Given the description of an element on the screen output the (x, y) to click on. 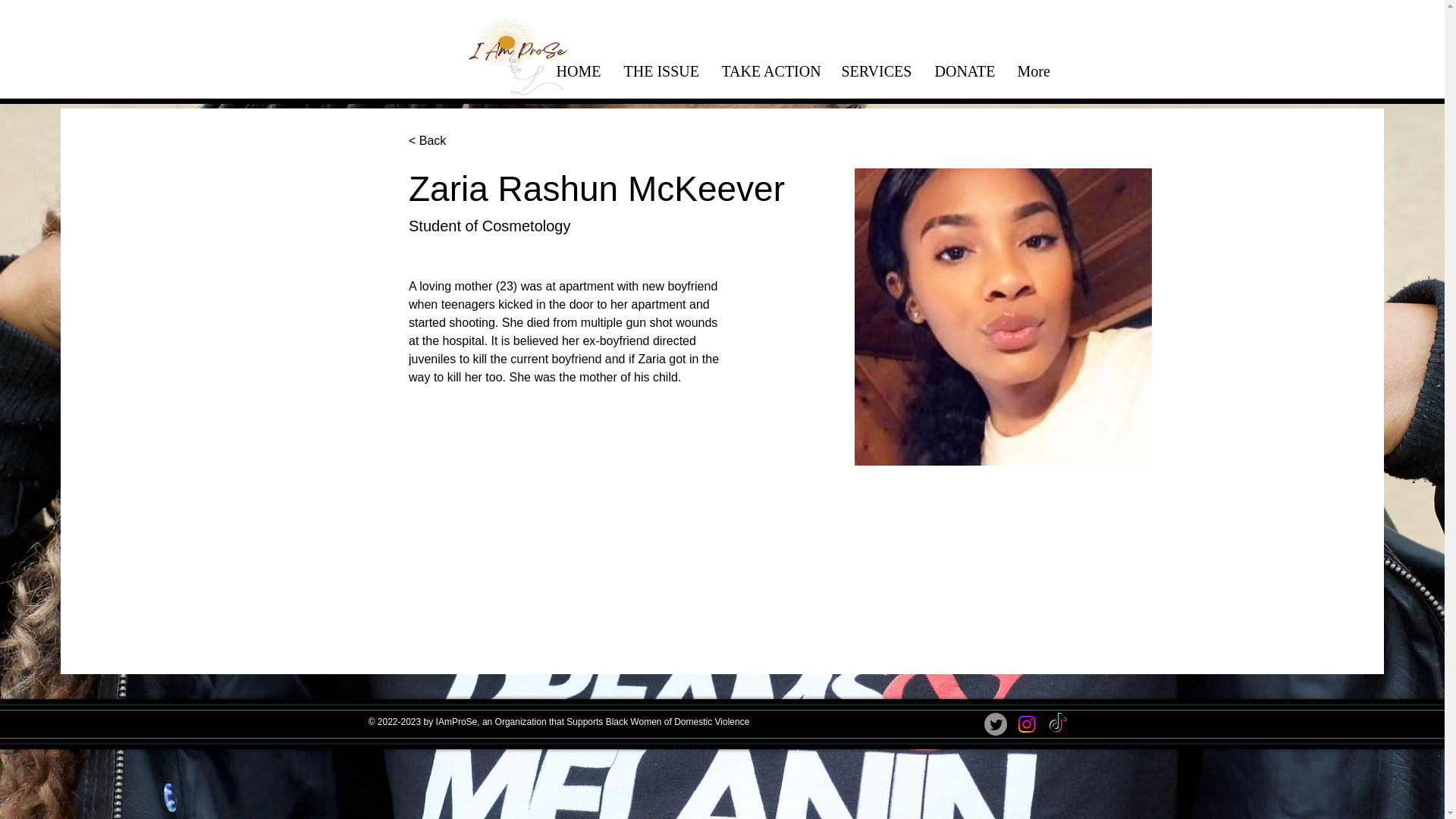
SERVICES (876, 70)
TAKE ACTION (769, 70)
HOME (577, 70)
THE ISSUE (661, 70)
B9398048-B66D-4CD9-942C-83C3DC51FB68.jpeg (1002, 317)
DONATE (964, 70)
